Given the description of an element on the screen output the (x, y) to click on. 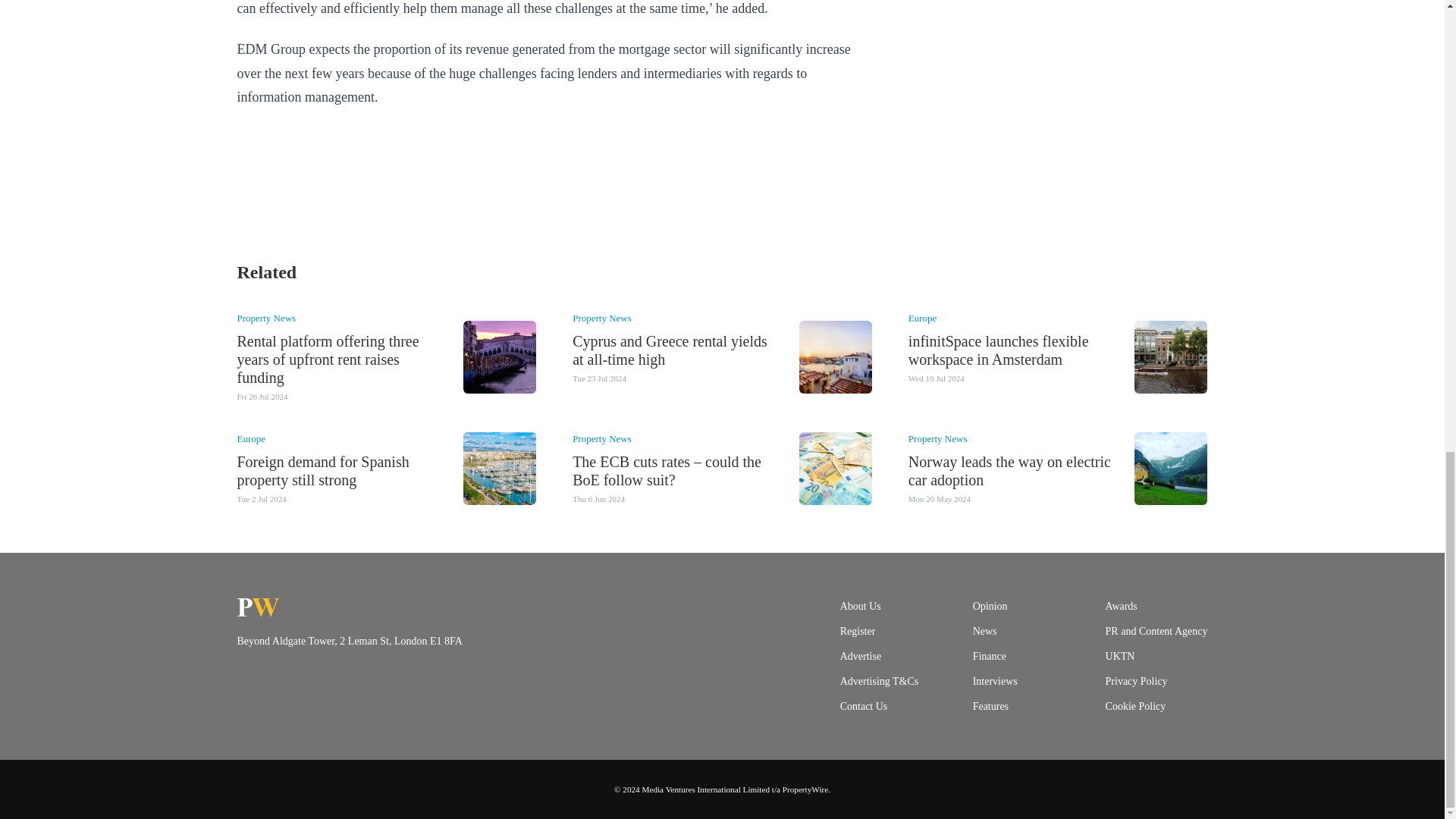
Property News (601, 317)
Europe (922, 317)
Cyprus and Greece rental yields at all-time high (669, 349)
Property News (265, 317)
infinitSpace launches flexible workspace in Amsterdam (998, 349)
